Given the description of an element on the screen output the (x, y) to click on. 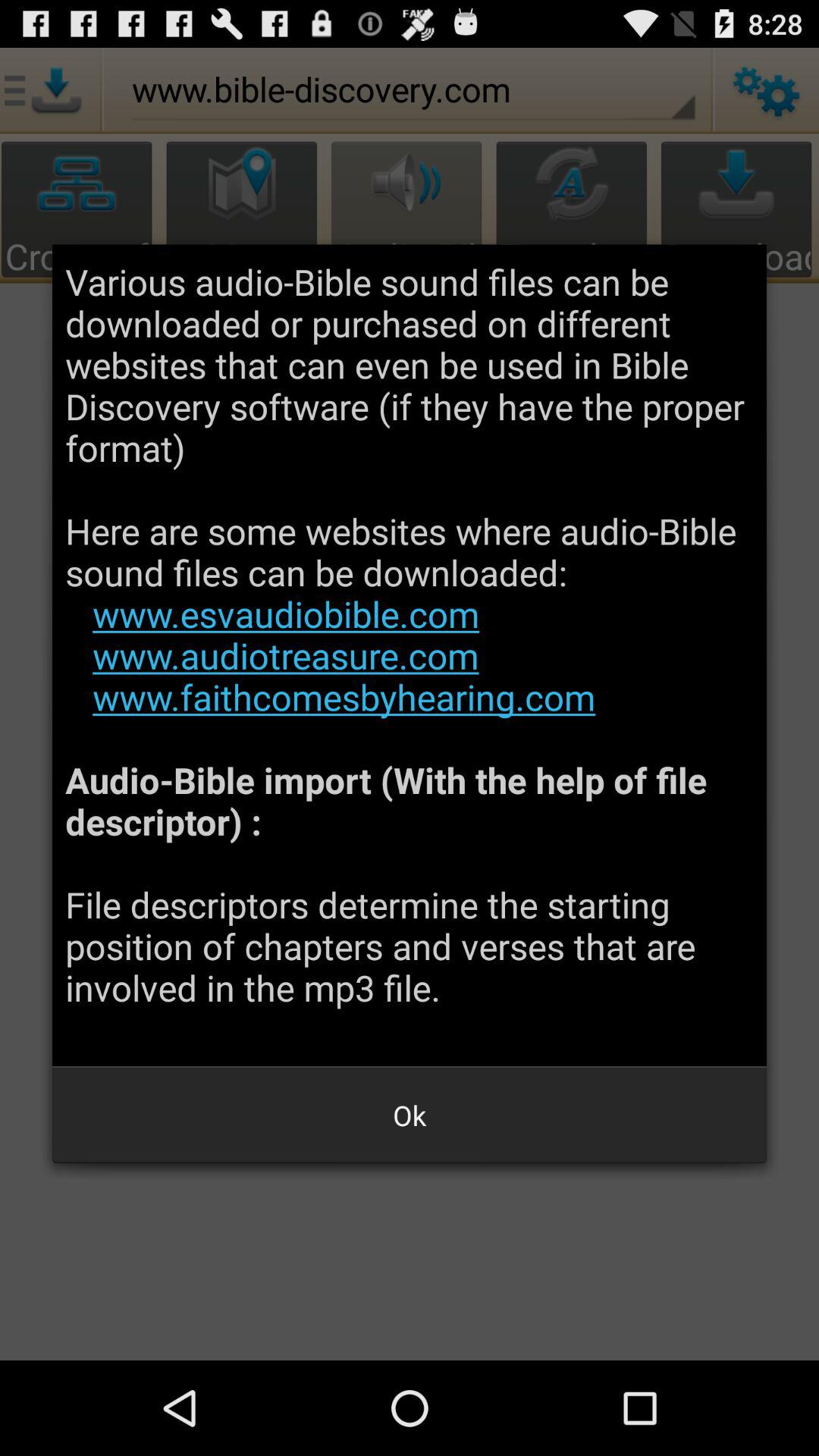
open the various audio bible app (409, 655)
